Given the description of an element on the screen output the (x, y) to click on. 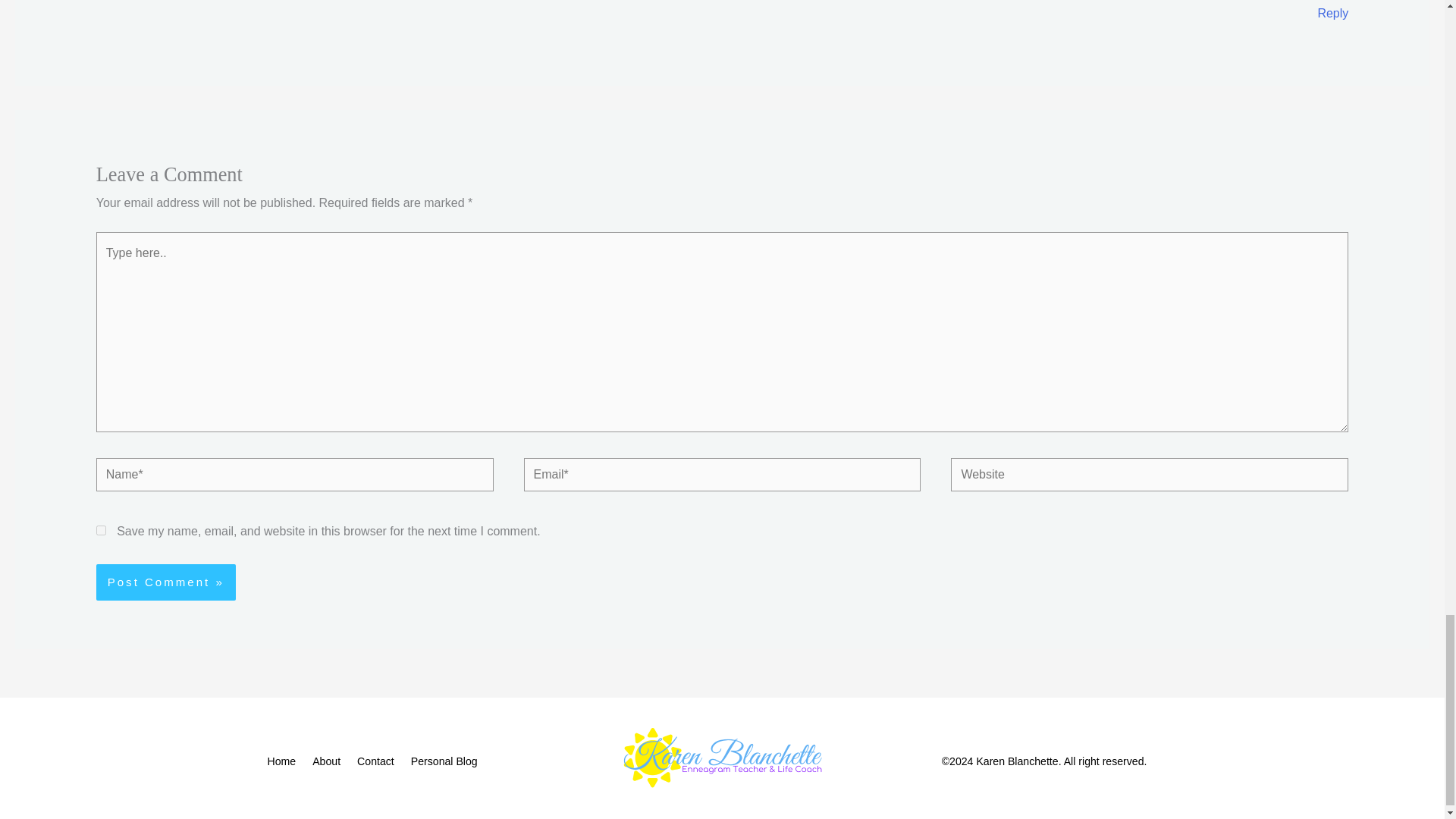
Personal Blog (447, 761)
Home (286, 761)
Contact (379, 761)
yes (101, 530)
About (329, 761)
Reply (1332, 12)
